Given the description of an element on the screen output the (x, y) to click on. 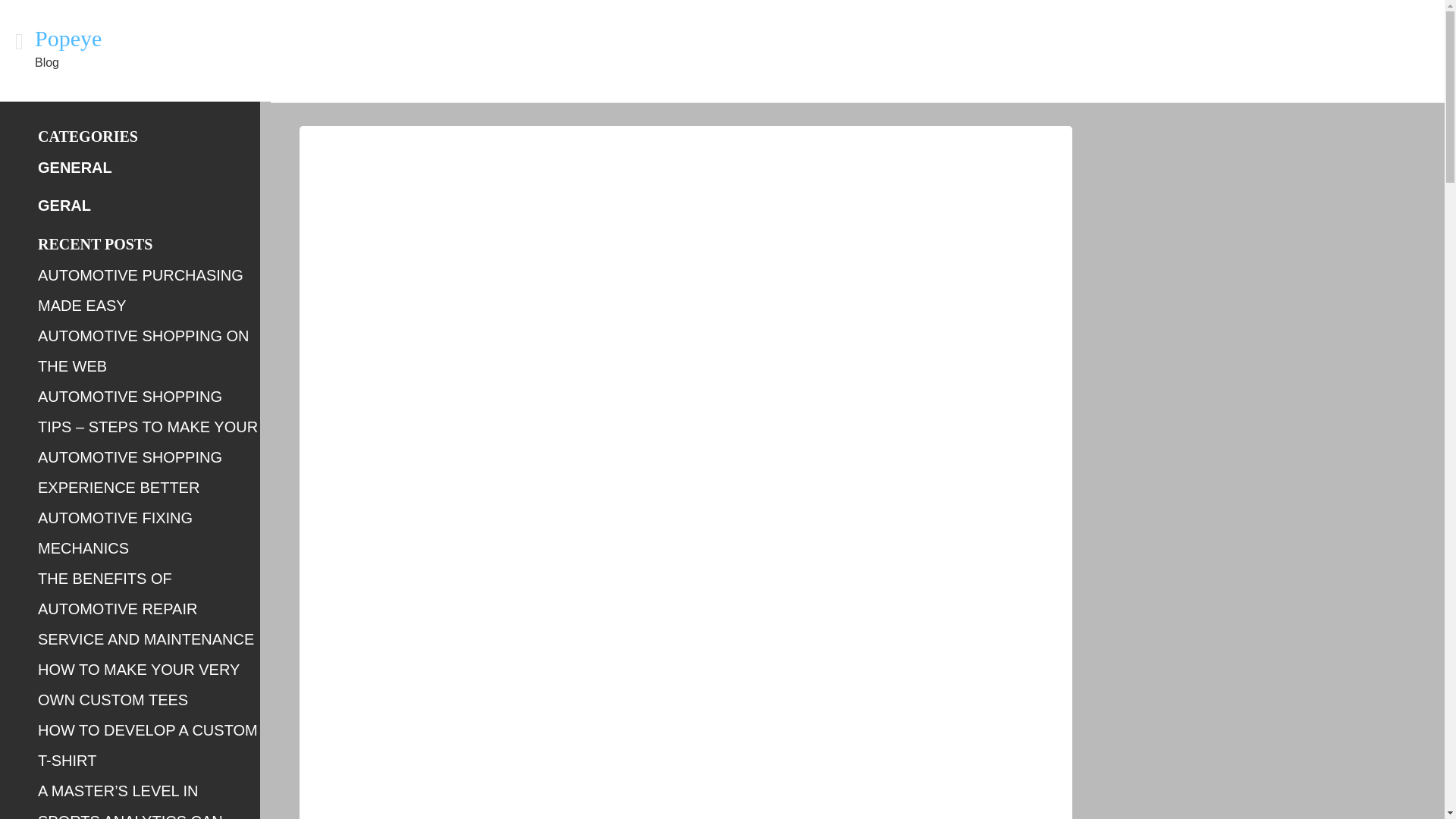
THE BENEFITS OF AUTOMOTIVE REPAIR SERVICE AND MAINTENANCE (145, 608)
Popeye (67, 37)
AUTOMOTIVE PURCHASING MADE EASY (140, 289)
GENERAL (74, 167)
HOW TO DEVELOP A CUSTOM T-SHIRT (147, 745)
AUTOMOTIVE SHOPPING ON THE WEB (142, 350)
GERAL (63, 205)
HOW TO MAKE YOUR VERY OWN CUSTOM TEES (138, 684)
AUTOMOTIVE FIXING MECHANICS (114, 532)
